Given the description of an element on the screen output the (x, y) to click on. 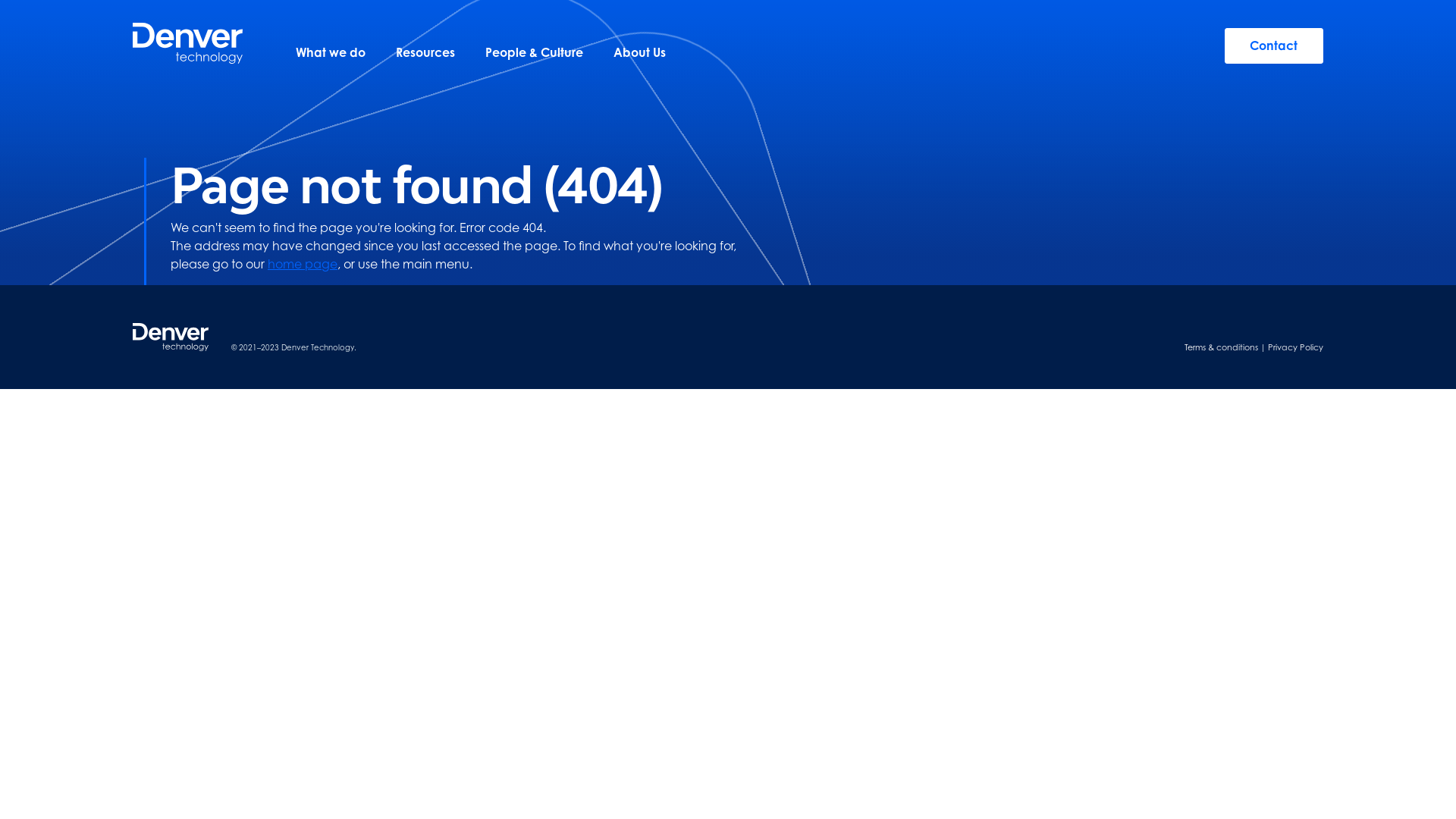
Resources Element type: text (425, 51)
Privacy Policy Element type: text (1295, 347)
home page Element type: text (302, 263)
Terms & conditions Element type: text (1221, 347)
What we do Element type: text (330, 51)
About Us Element type: text (639, 51)
People & Culture Element type: text (533, 51)
Contact Element type: text (1273, 45)
